Given the description of an element on the screen output the (x, y) to click on. 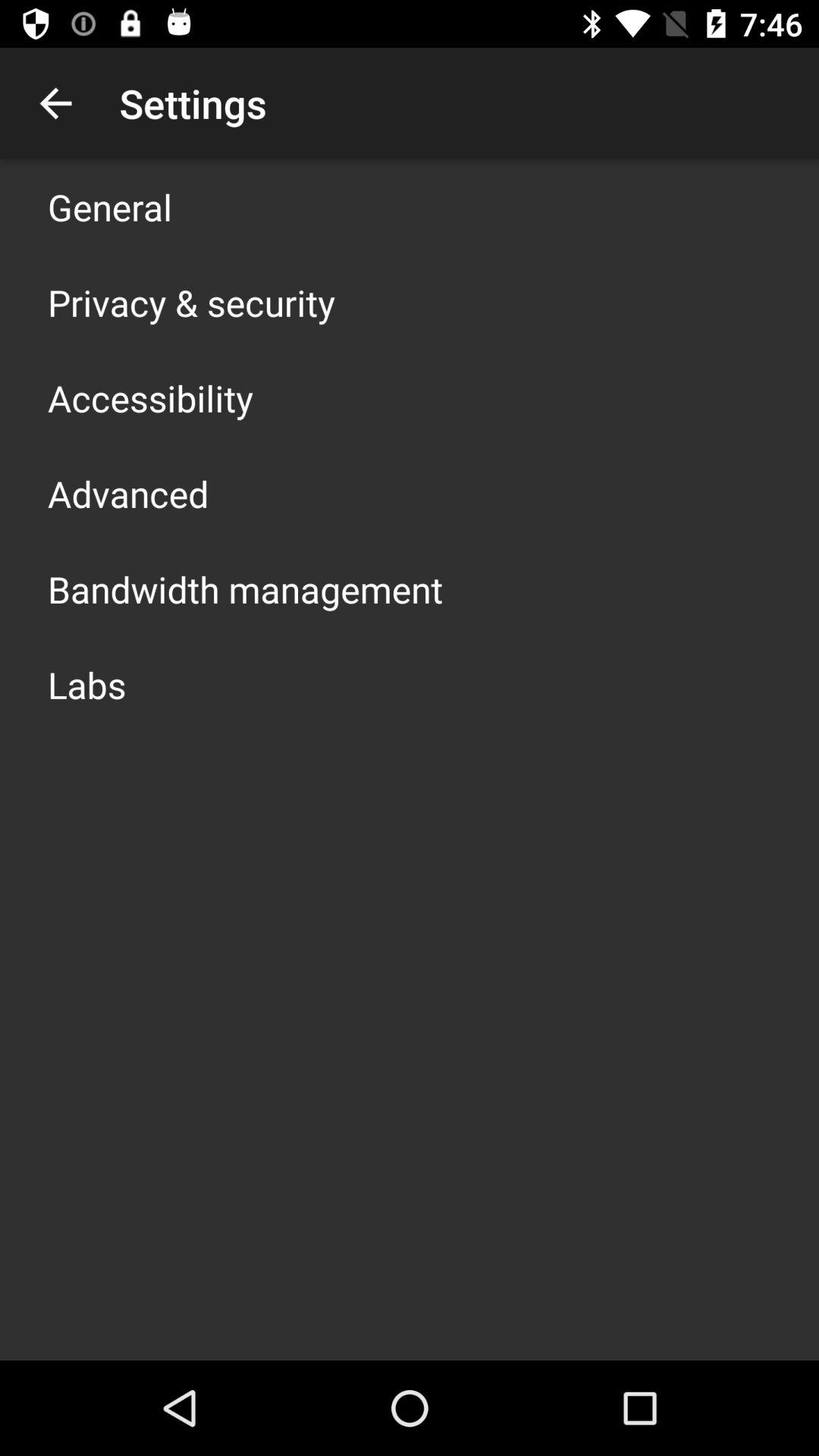
choose the item above bandwidth management icon (127, 493)
